Given the description of an element on the screen output the (x, y) to click on. 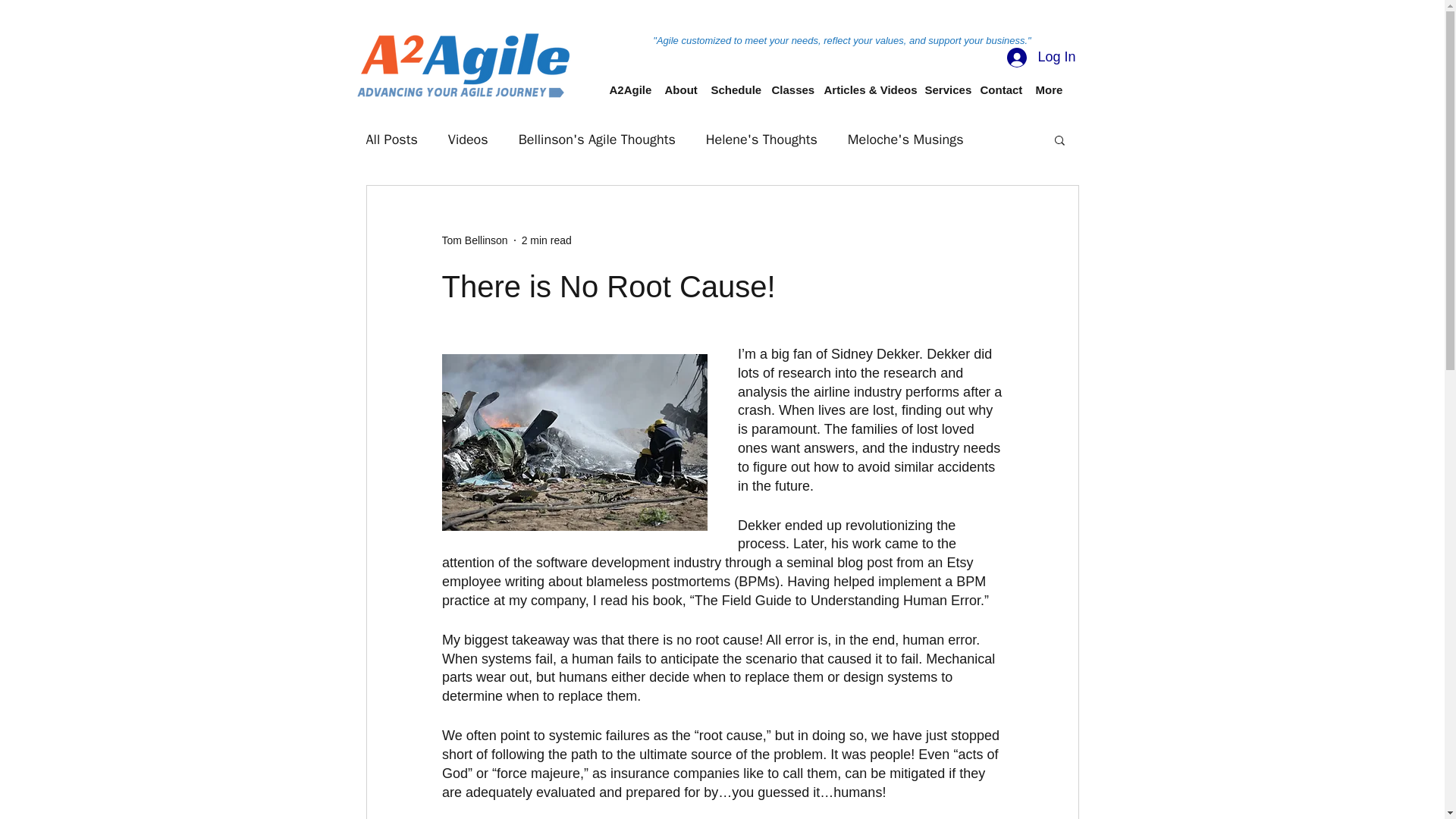
A2-Agile-logo-final.png (465, 64)
2 min read (546, 239)
Bellinson's Agile Thoughts (596, 139)
Tom Bellinson (473, 239)
Meloche's Musings (905, 139)
Helene's Thoughts (761, 139)
All Posts (390, 139)
Classes (790, 89)
Log In (1040, 57)
About (679, 89)
